Given the description of an element on the screen output the (x, y) to click on. 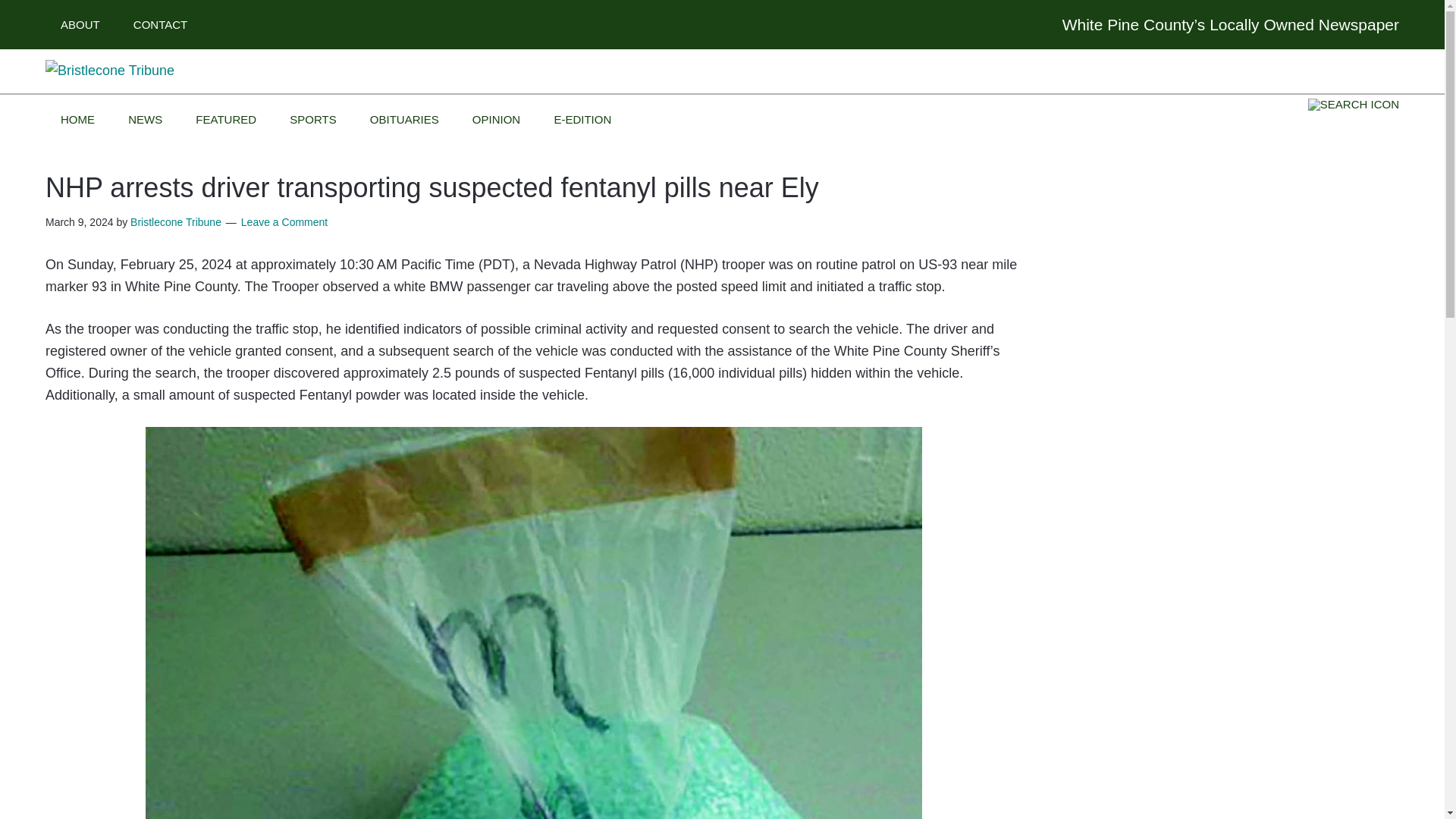
Bristlecone Tribune (176, 222)
CONTACT (159, 24)
Leave a Comment (284, 222)
NEWS (145, 119)
SPORTS (312, 119)
FEATURED (225, 119)
OPINION (496, 119)
E-EDITION (582, 119)
HOME (77, 119)
